Given the description of an element on the screen output the (x, y) to click on. 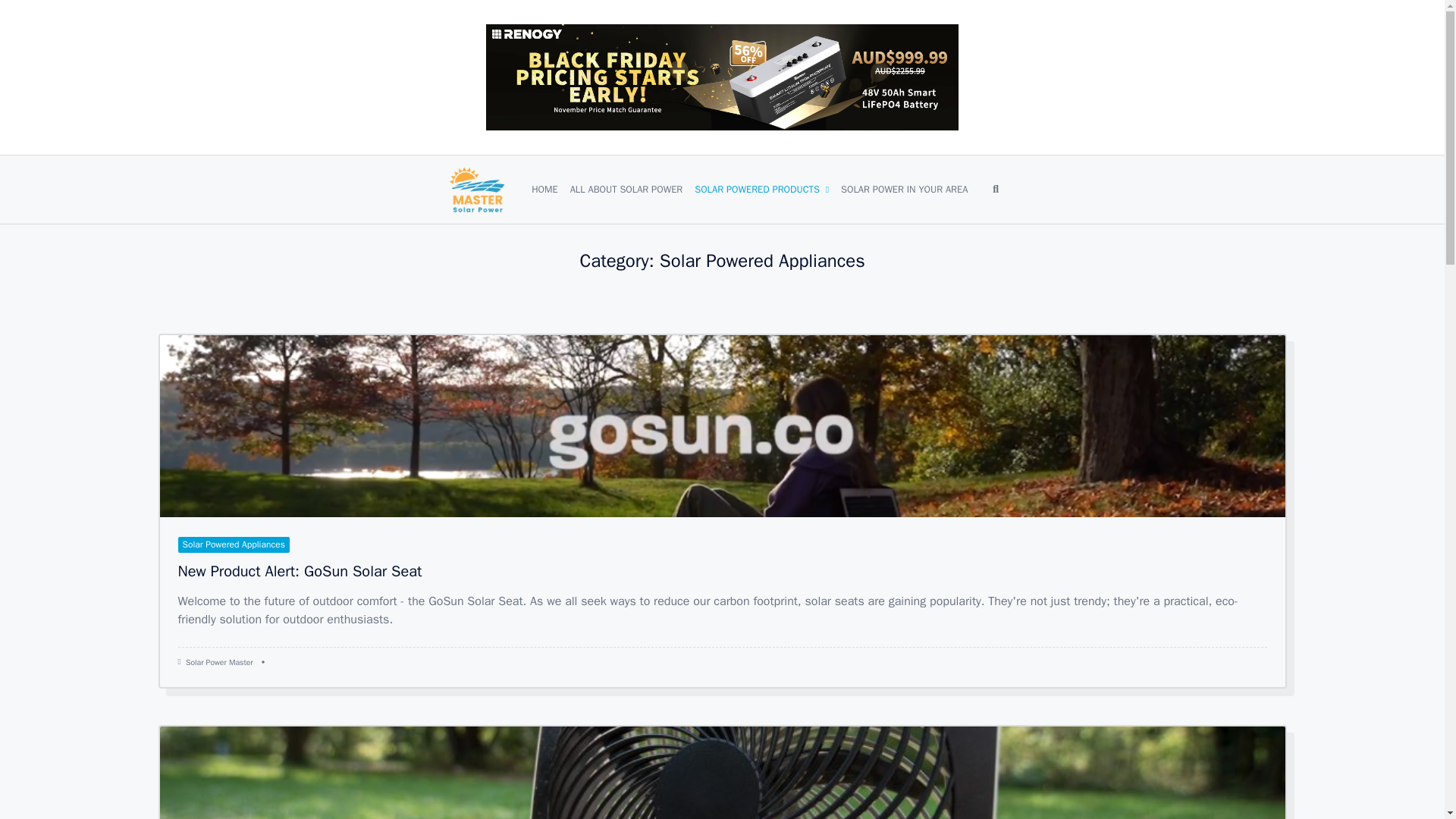
SOLAR POWER IN YOUR AREA (904, 189)
Solar Powered Appliances (232, 544)
ALL ABOUT SOLAR POWER (626, 189)
New Product Alert: GoSun Solar Seat (299, 570)
HOME (544, 189)
SOLAR POWERED PRODUCTS (761, 189)
Solar Power Master (219, 662)
